Given the description of an element on the screen output the (x, y) to click on. 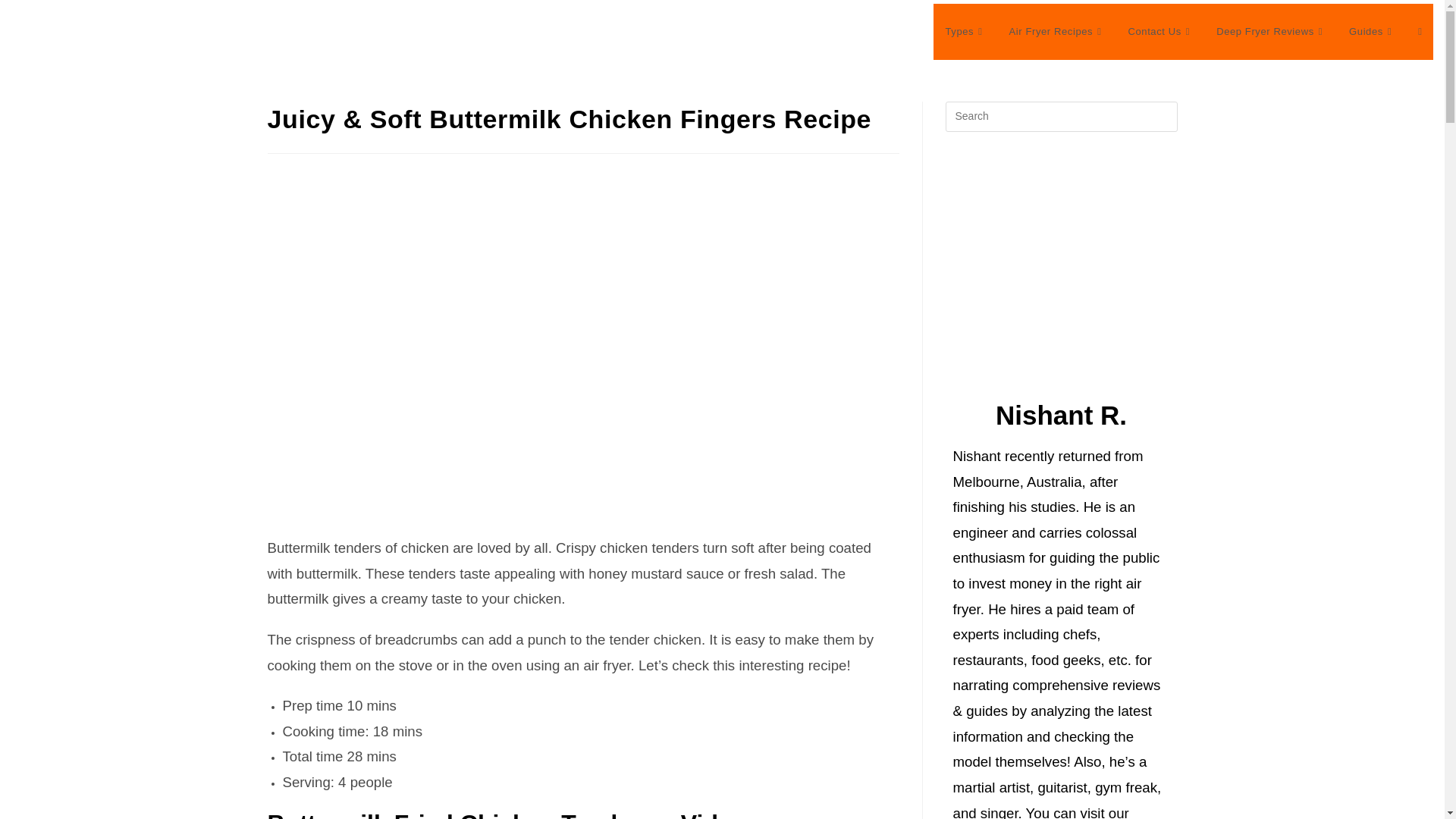
Guides (1372, 31)
Air Fryer Recipes (1056, 31)
Deep Fryer Reviews (1271, 31)
Contact Us (1160, 31)
Types (965, 31)
